Given the description of an element on the screen output the (x, y) to click on. 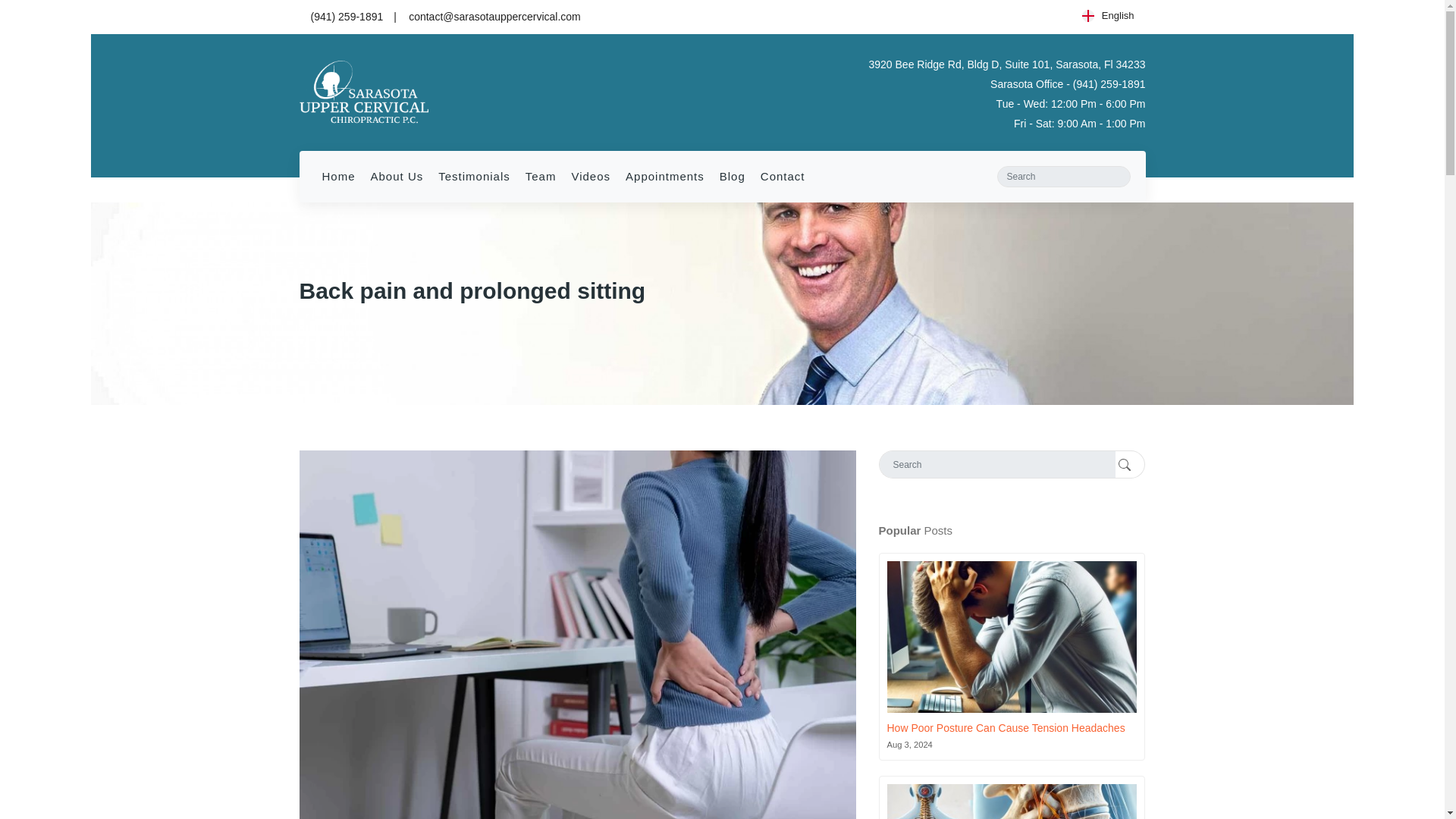
How Poor Posture Can Cause Tension Headaches (1011, 724)
Appointments (664, 176)
How Poor Posture Can Cause Tension Headaches (1011, 636)
Home (338, 176)
Contact (782, 176)
Testimonials (474, 176)
About Us (396, 176)
Team (541, 176)
Videos (590, 176)
